Given the description of an element on the screen output the (x, y) to click on. 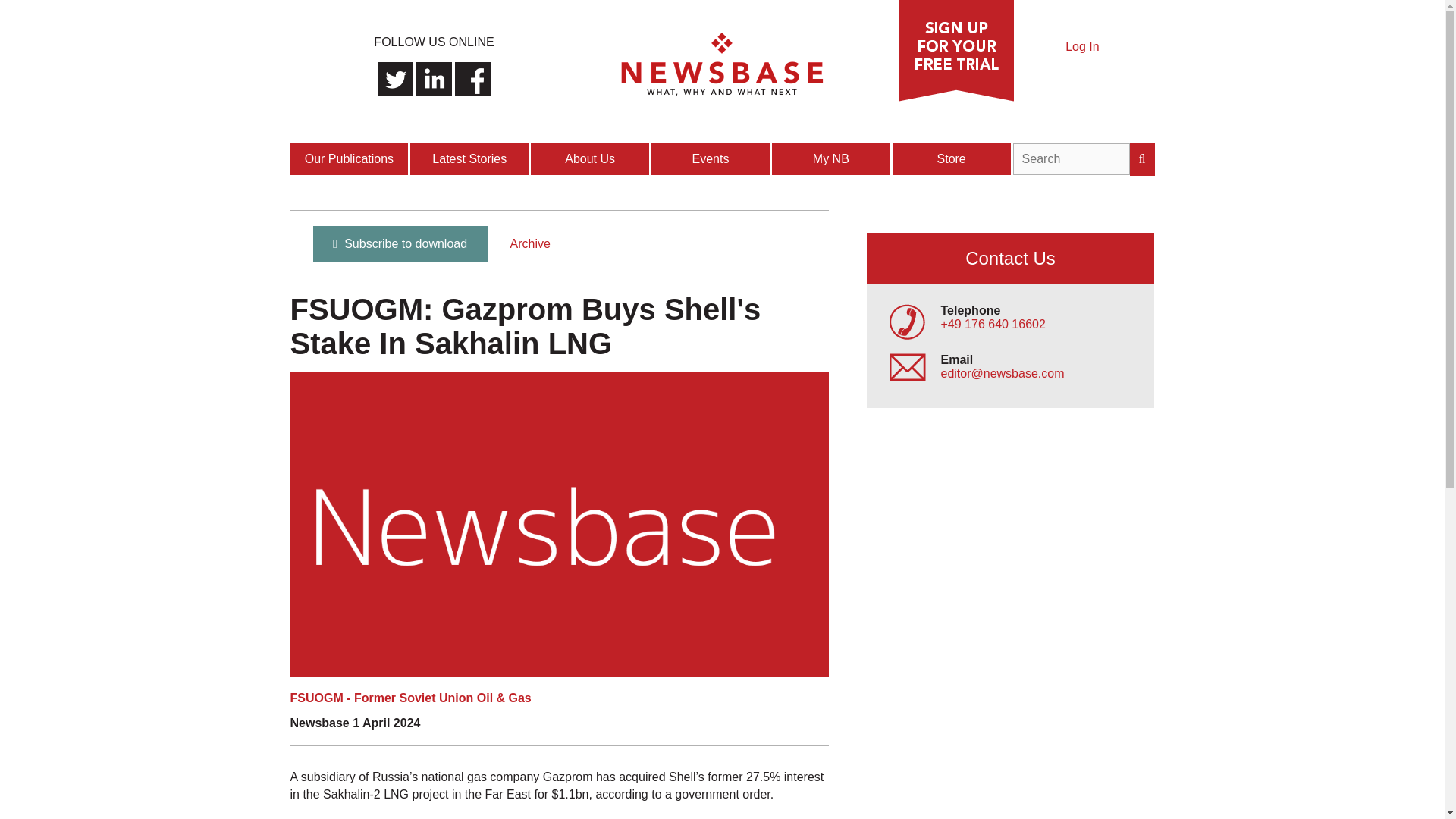
Events (710, 159)
Connect with us on LinkedIn (433, 79)
About Us (590, 159)
Store (952, 159)
Follow us on Twitter (395, 79)
Home (721, 97)
Archive (529, 243)
My NB (831, 159)
Subscribe to download (399, 244)
Our Publications (349, 159)
Log In (1082, 46)
My NB (831, 159)
Latest Stories (470, 159)
Find us on Facebook (472, 79)
